Given the description of an element on the screen output the (x, y) to click on. 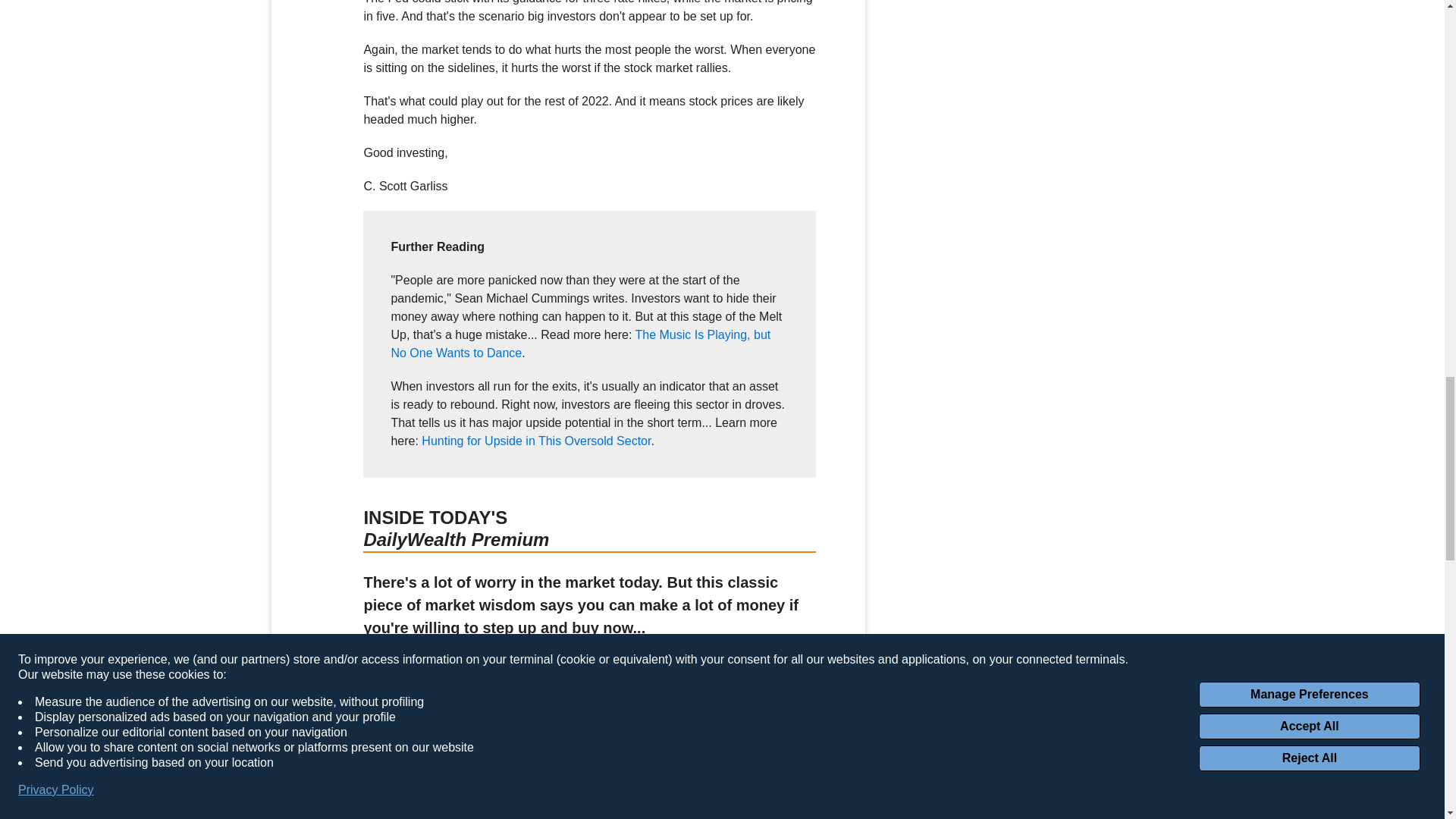
The Music Is Playing, but No One Wants to Dance (580, 343)
Hunting for Upside in This Oversold Sector (536, 440)
